Given the description of an element on the screen output the (x, y) to click on. 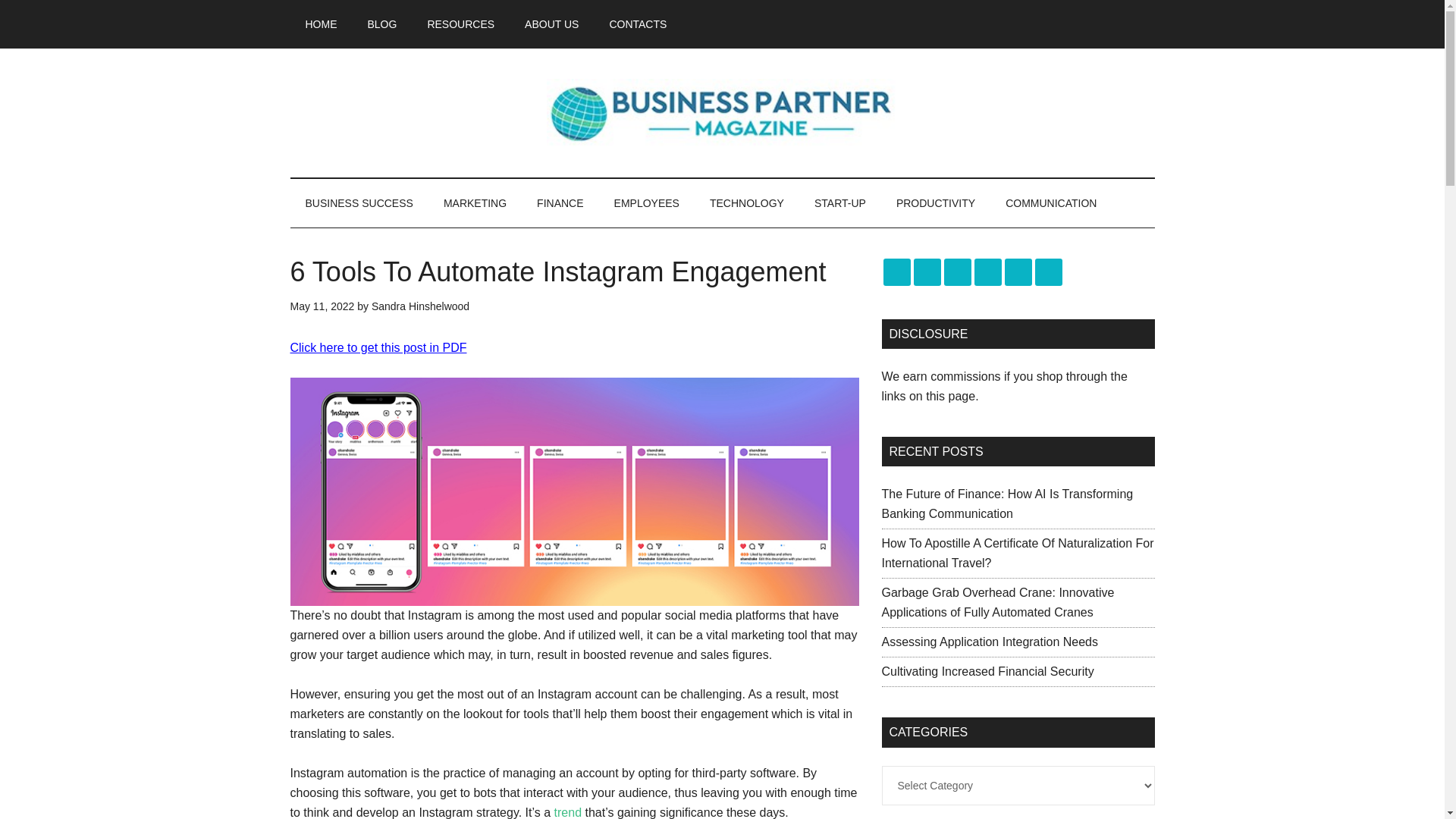
trend (567, 812)
HOME (320, 24)
CONTACTS (637, 24)
MARKETING (474, 203)
BLOG (382, 24)
COMMUNICATION (1051, 203)
START-UP (839, 203)
BUSINESS SUCCESS (358, 203)
TECHNOLOGY (746, 203)
Business Partner Magazine (721, 112)
PRODUCTIVITY (935, 203)
ABOUT US (551, 24)
Click here to get this post in PDF (377, 347)
RESOURCES (460, 24)
EMPLOYEES (646, 203)
